Given the description of an element on the screen output the (x, y) to click on. 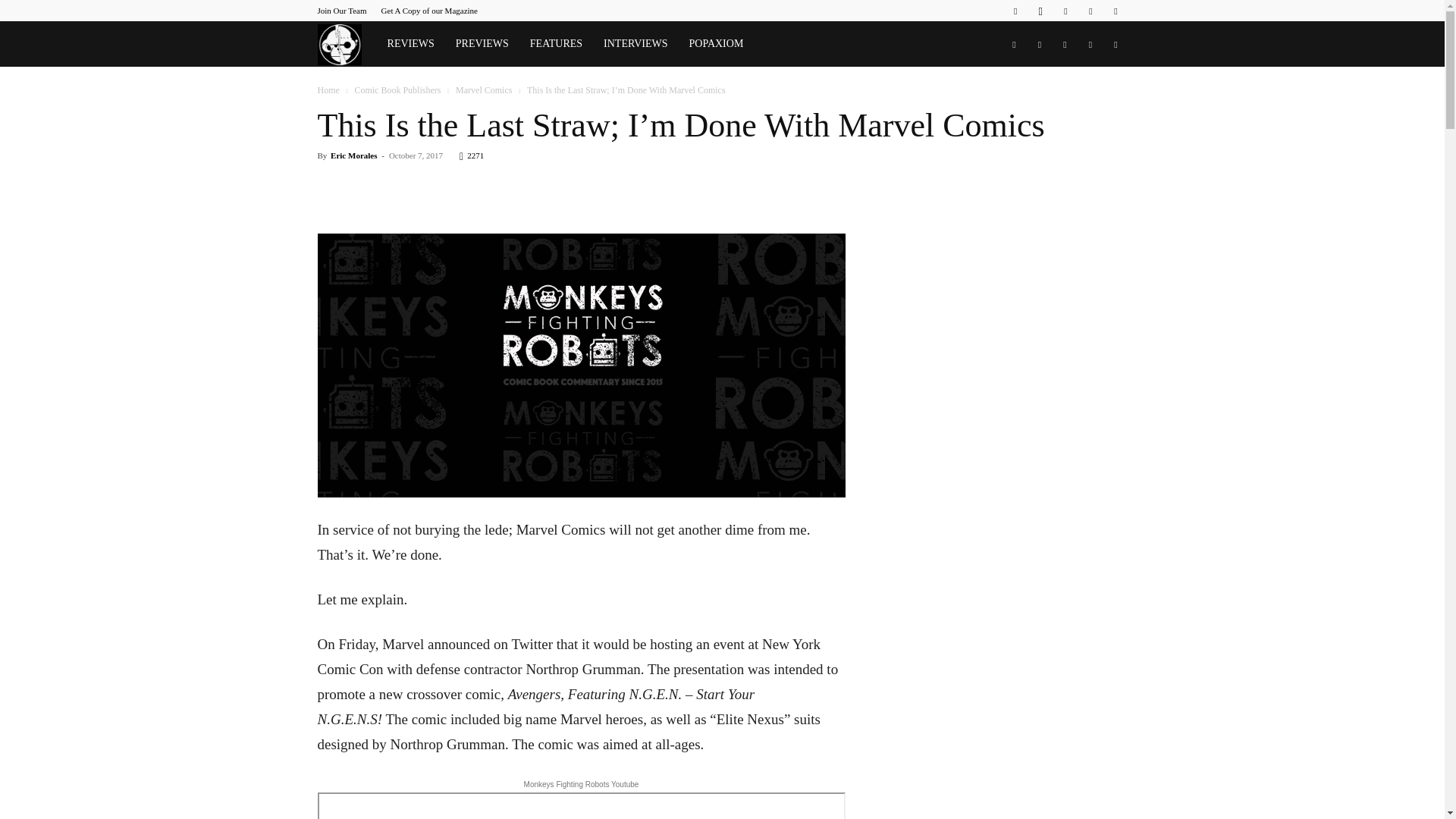
Eric Morales (353, 154)
Get A Copy of our Magazine (429, 10)
Youtube (1114, 10)
Twitter (1090, 10)
Reddit (1065, 10)
REVIEWS (411, 43)
INTERVIEWS (635, 43)
POPAXIOM (716, 43)
Monkeys Fighting Robots (346, 44)
Join Our Team (341, 10)
PREVIEWS (482, 43)
Home (328, 90)
FEATURES (555, 43)
Marvel Comics (483, 90)
Comic Book Publishers (397, 90)
